Given the description of an element on the screen output the (x, y) to click on. 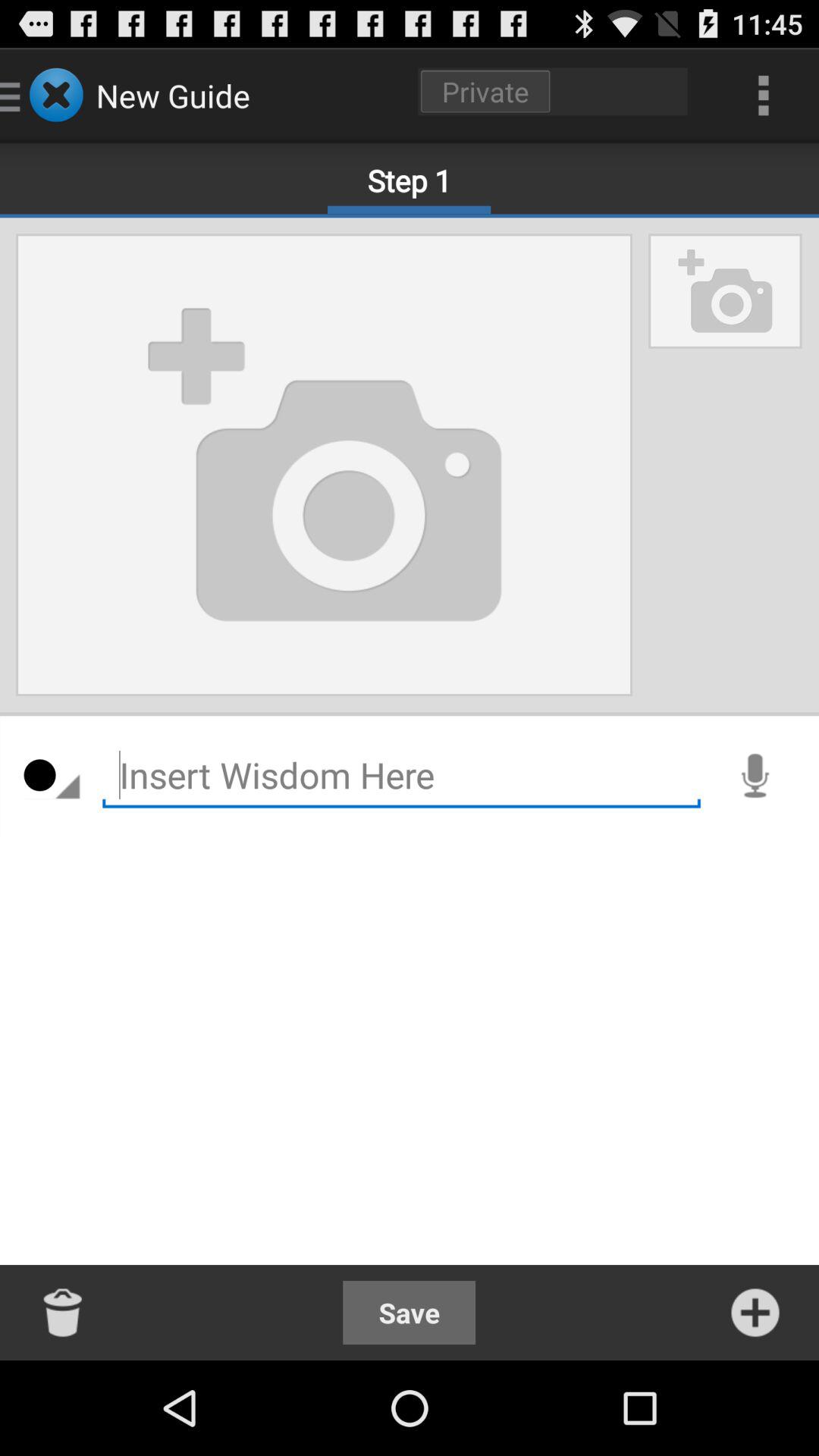
press the save button (408, 1312)
